Given the description of an element on the screen output the (x, y) to click on. 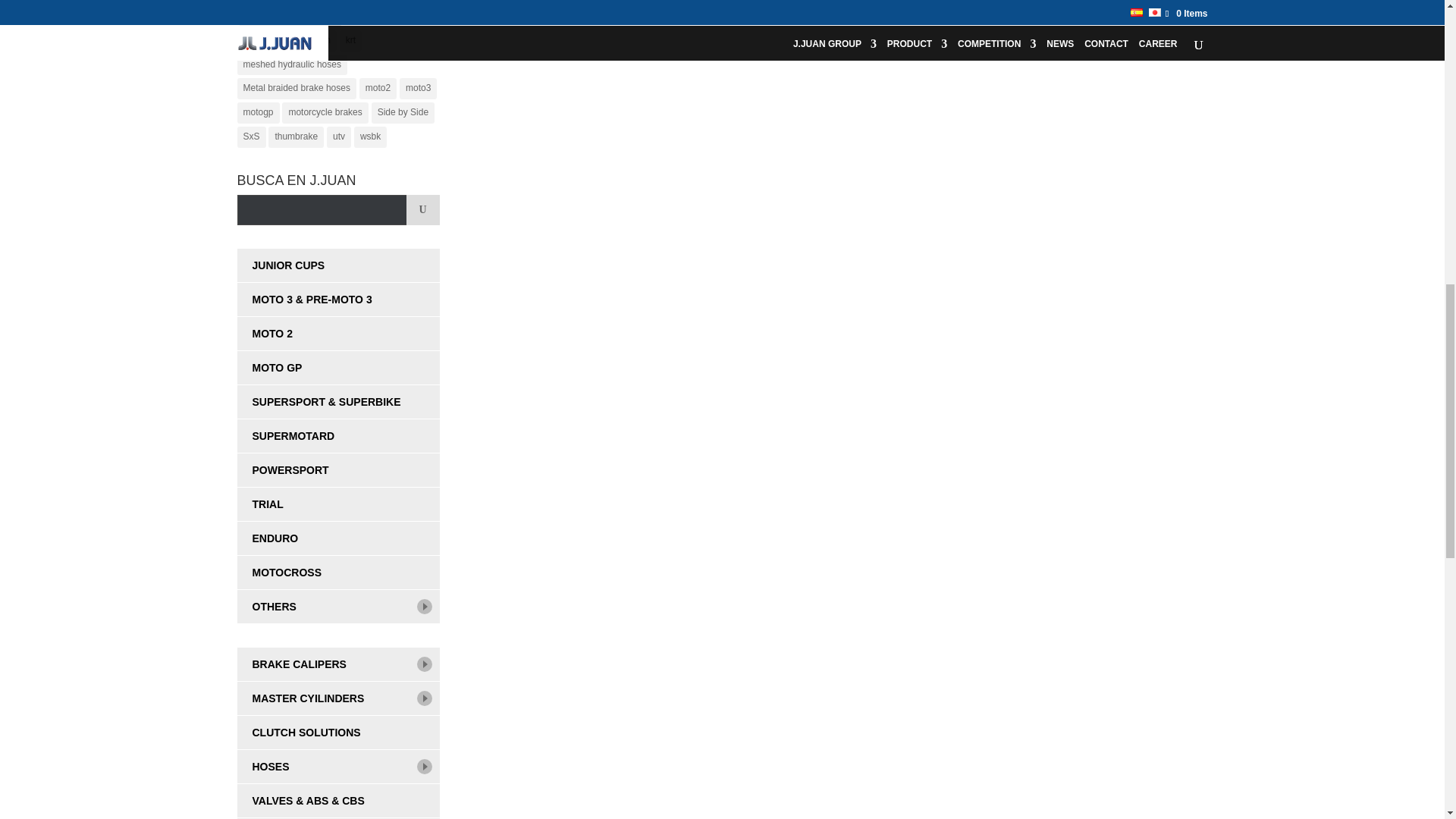
U (422, 209)
